Given the description of an element on the screen output the (x, y) to click on. 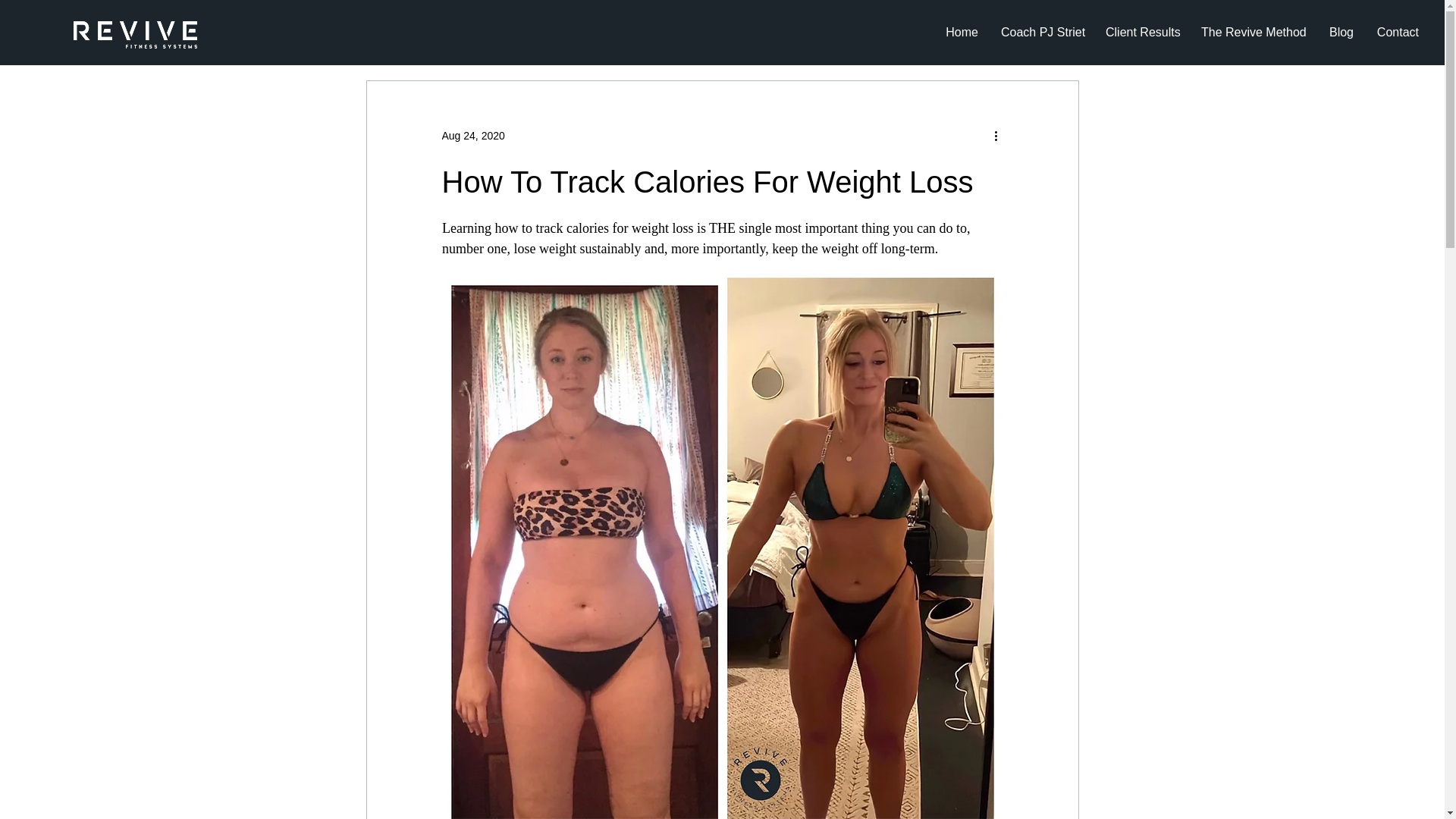
Aug 24, 2020 (472, 134)
Coach PJ Striet (1042, 32)
The Revive Method (1252, 32)
Home (961, 32)
Blog (1340, 32)
Contact (1397, 32)
Client Results (1141, 32)
